Given the description of an element on the screen output the (x, y) to click on. 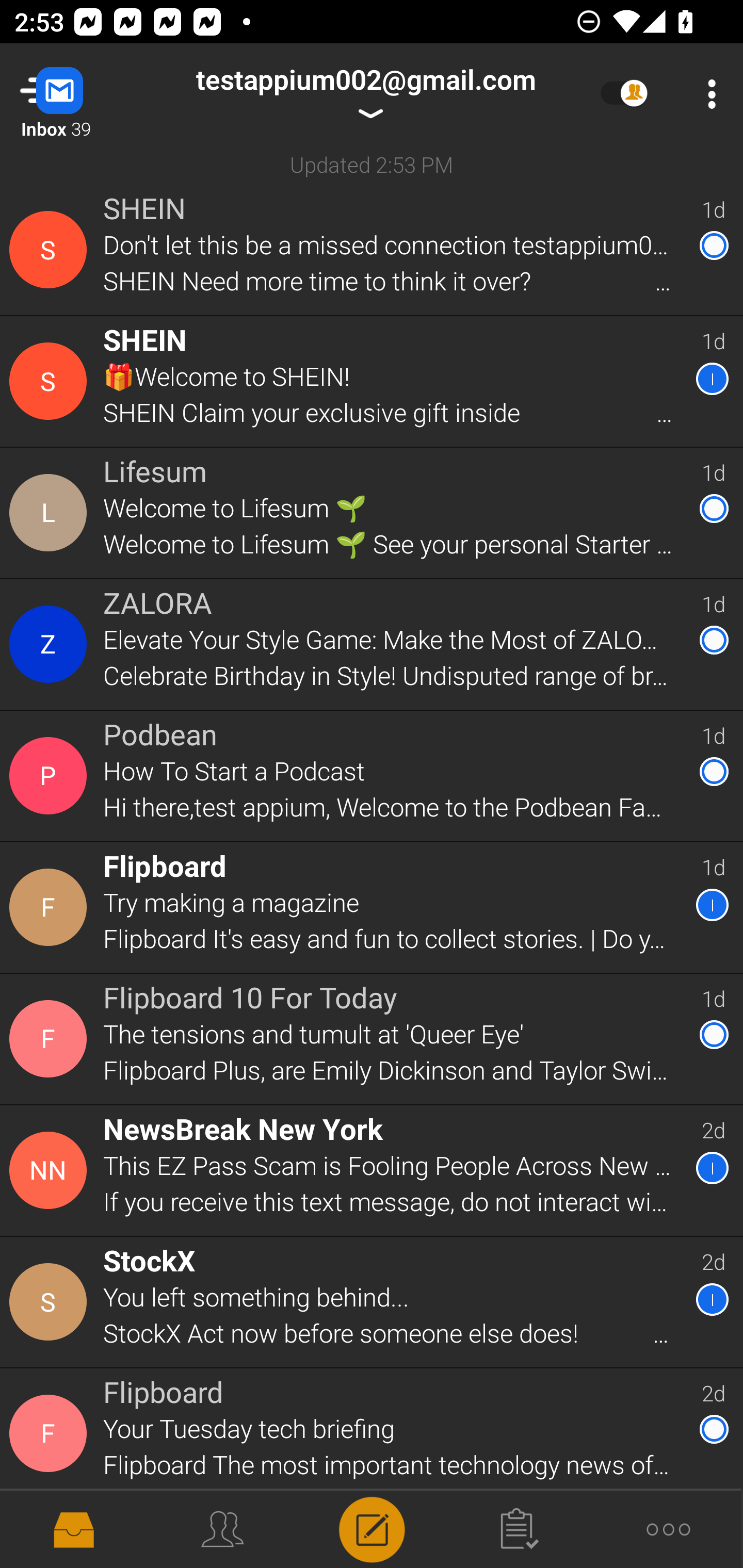
Navigate up (81, 93)
testappium002@gmail.com (365, 93)
More Options (706, 93)
Updated 2:53 PM (371, 164)
Contact Details (50, 250)
Contact Details (50, 381)
Contact Details (50, 513)
Contact Details (50, 644)
Contact Details (50, 776)
Contact Details (50, 907)
Contact Details (50, 1038)
Contact Details (50, 1170)
Contact Details (50, 1302)
Contact Details (50, 1433)
Compose (371, 1528)
